Given the description of an element on the screen output the (x, y) to click on. 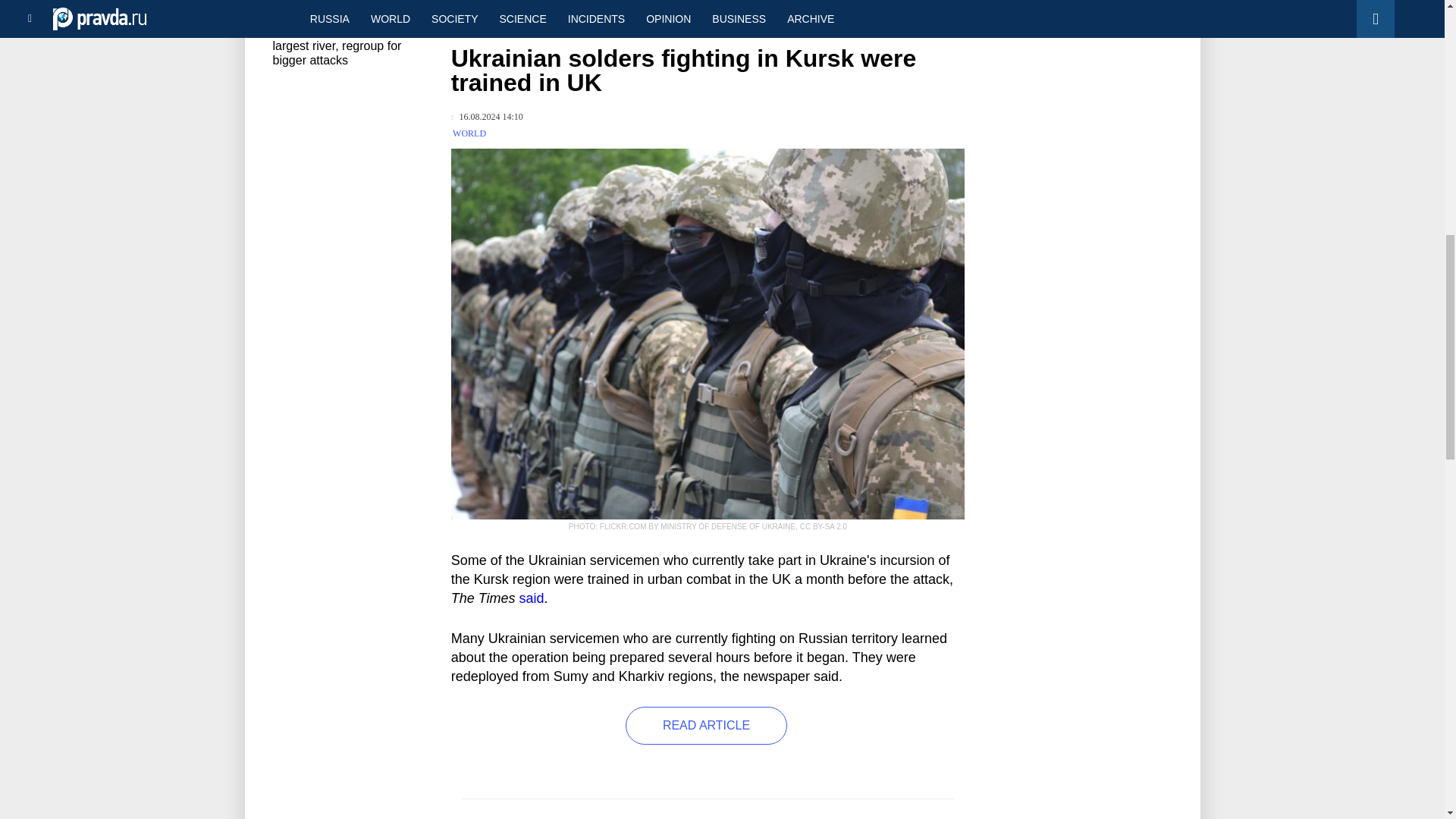
WORLD (469, 132)
Published (486, 116)
Back to top (1418, 79)
